Given the description of an element on the screen output the (x, y) to click on. 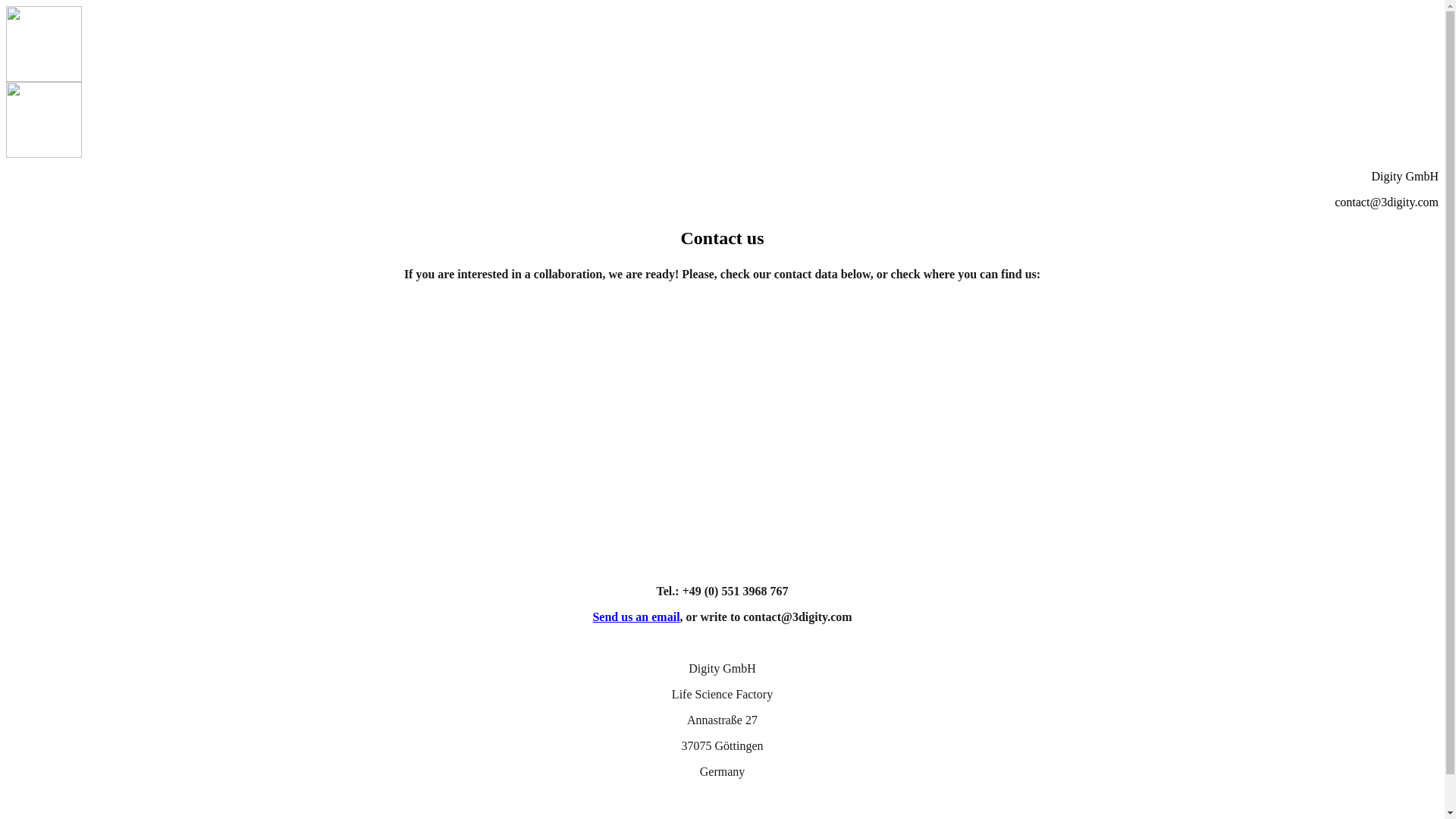
Send us an email Element type: text (635, 616)
